Given the description of an element on the screen output the (x, y) to click on. 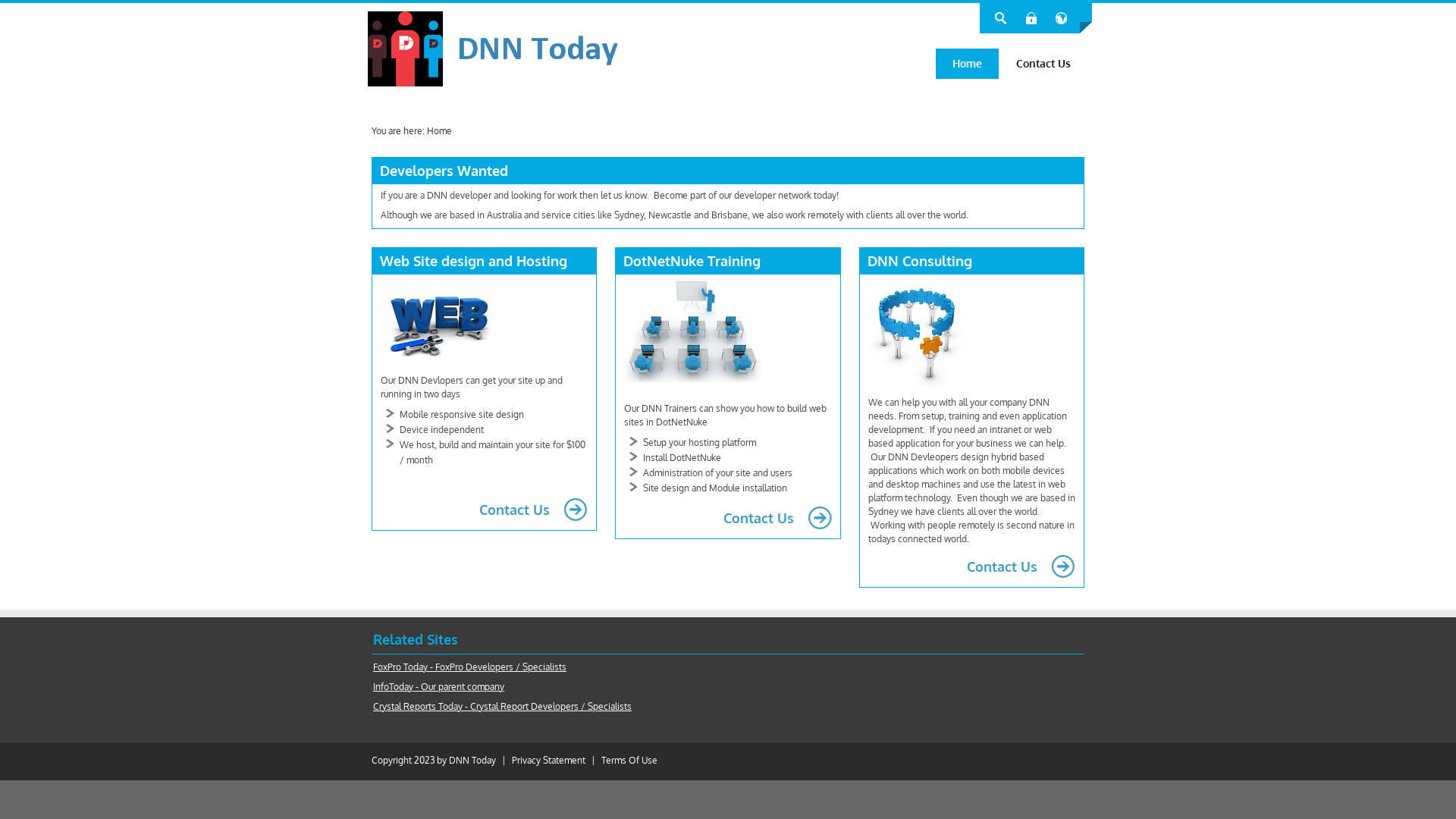
Contact Us Element type: text (971, 566)
Change Language Element type: hover (1061, 17)
Click to Search Element type: hover (1000, 17)
InfoToday - Our parent company Element type: text (438, 686)
FoxPro Today - FoxPro Developers / Specialists Element type: text (469, 666)
Terms Of Use Element type: text (629, 759)
Contact Us Element type: text (483, 509)
Home Element type: text (966, 63)
Home Element type: text (438, 130)
Contact Us Element type: text (727, 517)
Contact Us Element type: text (1043, 63)
DNN Today - DotNetNuke Developers / Consultants / Training Element type: hover (548, 47)
Privacy Statement Element type: text (548, 759)
